Given the description of an element on the screen output the (x, y) to click on. 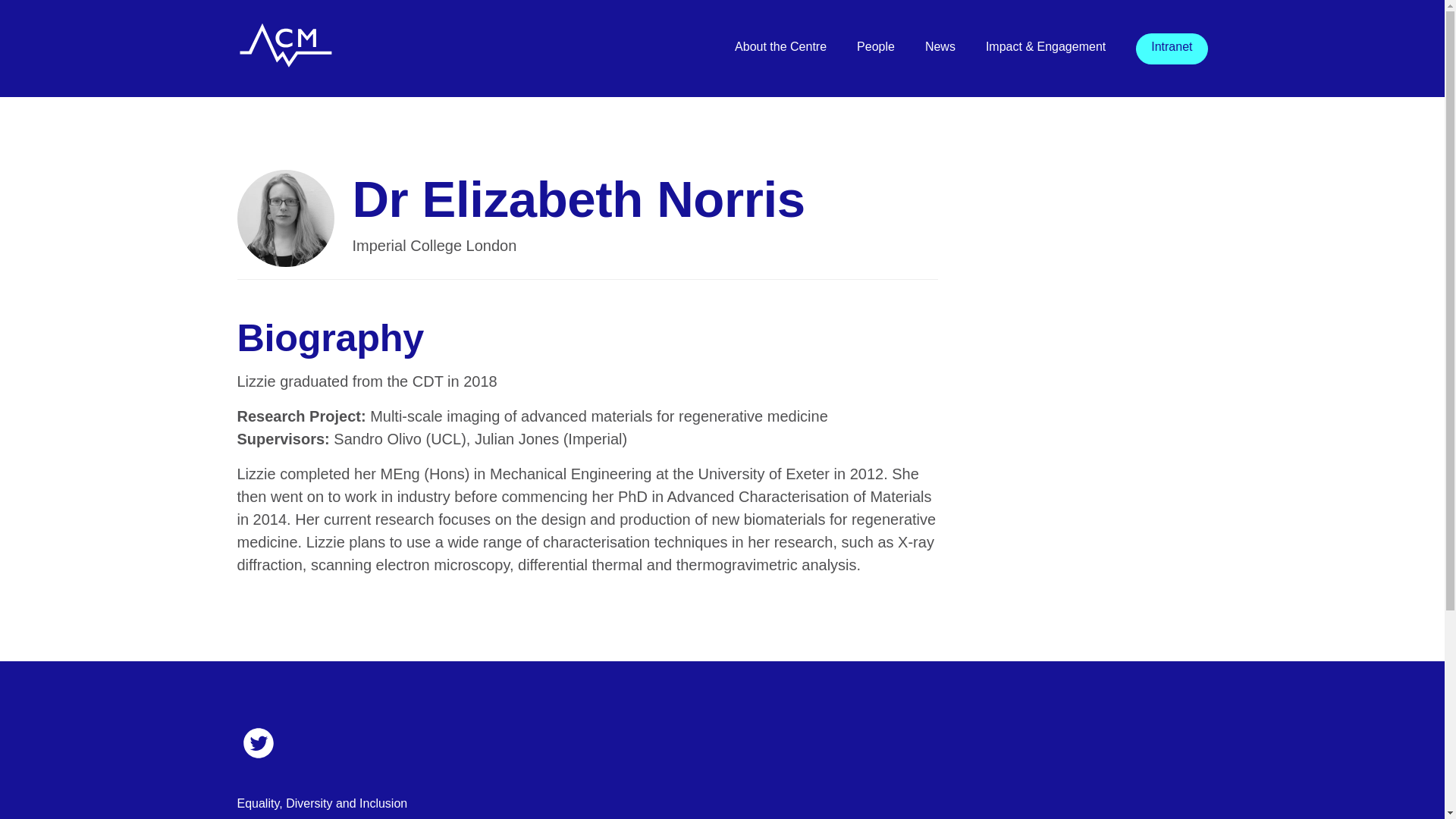
Go to the home page... (284, 59)
News (939, 46)
About the Centre (781, 46)
People (876, 46)
Intranet (1171, 46)
